Given the description of an element on the screen output the (x, y) to click on. 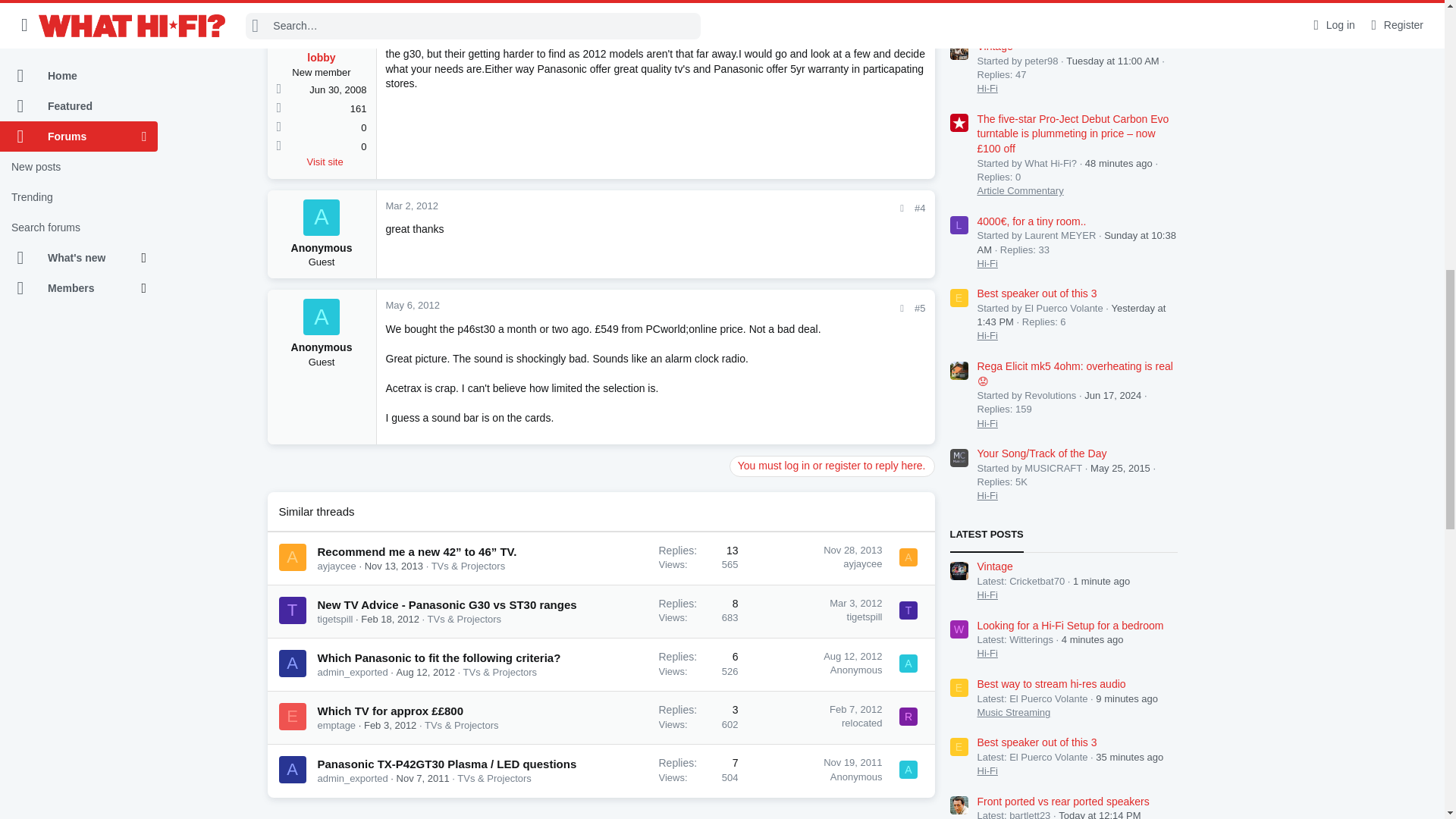
Nov 13, 2013 at 6:20 PM (394, 565)
Nov 28, 2013 at 8:11 AM (853, 550)
First message reaction score: 0 (698, 557)
Anonymous (320, 217)
Mar 1, 2012 at 4:14 PM (411, 15)
May 6, 2012 at 8:13 PM (412, 305)
Anonymous (320, 316)
Mar 2, 2012 at 7:18 AM (411, 205)
